Given the description of an element on the screen output the (x, y) to click on. 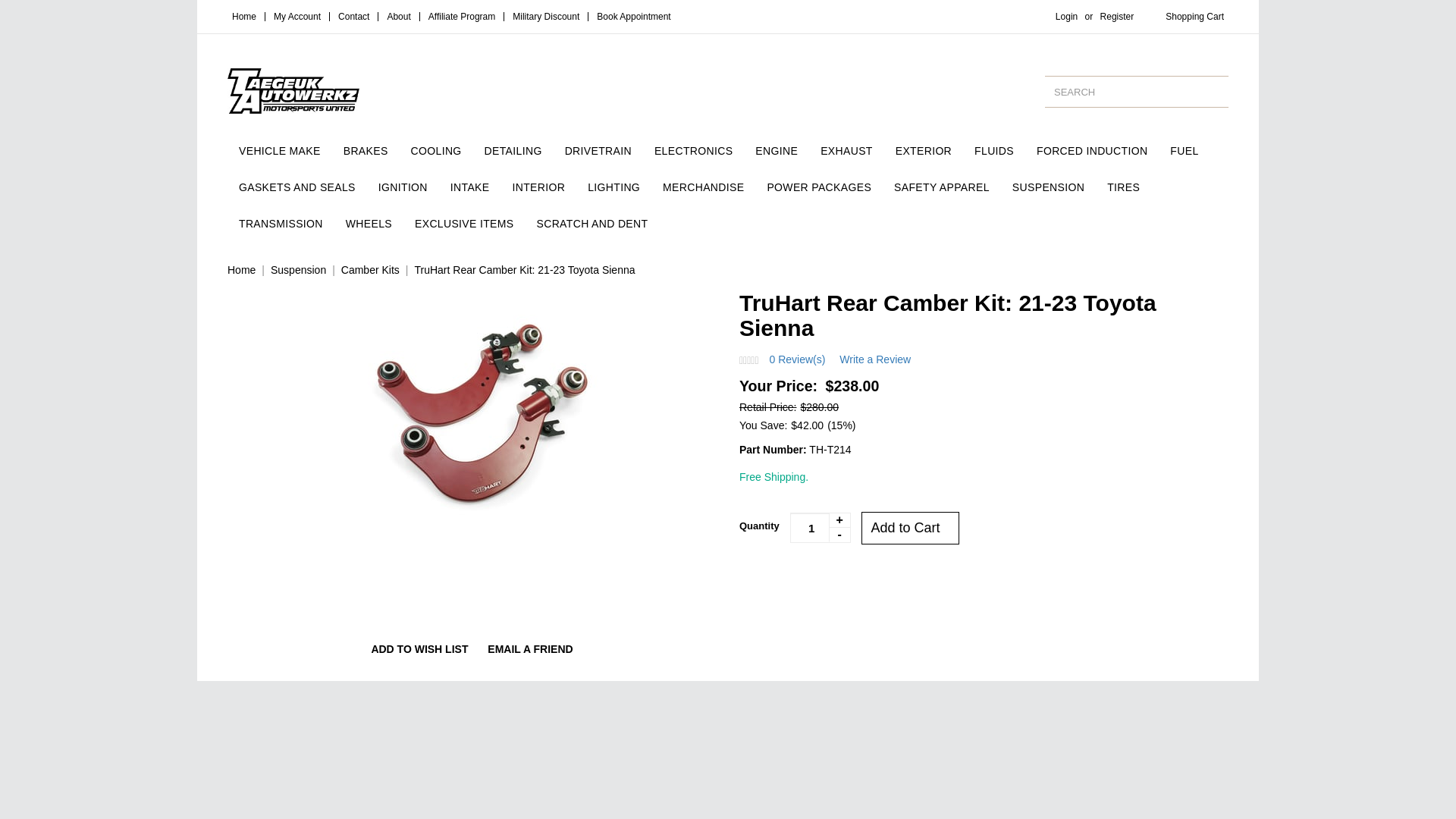
IGNITION (402, 186)
Login (1066, 16)
GASKETS AND SEALS (296, 186)
Home (243, 16)
EXHAUST (846, 150)
Contact (353, 16)
SAFETY APPAREL (941, 186)
INTAKE (469, 186)
DETAILING (513, 150)
1 (820, 527)
